Given the description of an element on the screen output the (x, y) to click on. 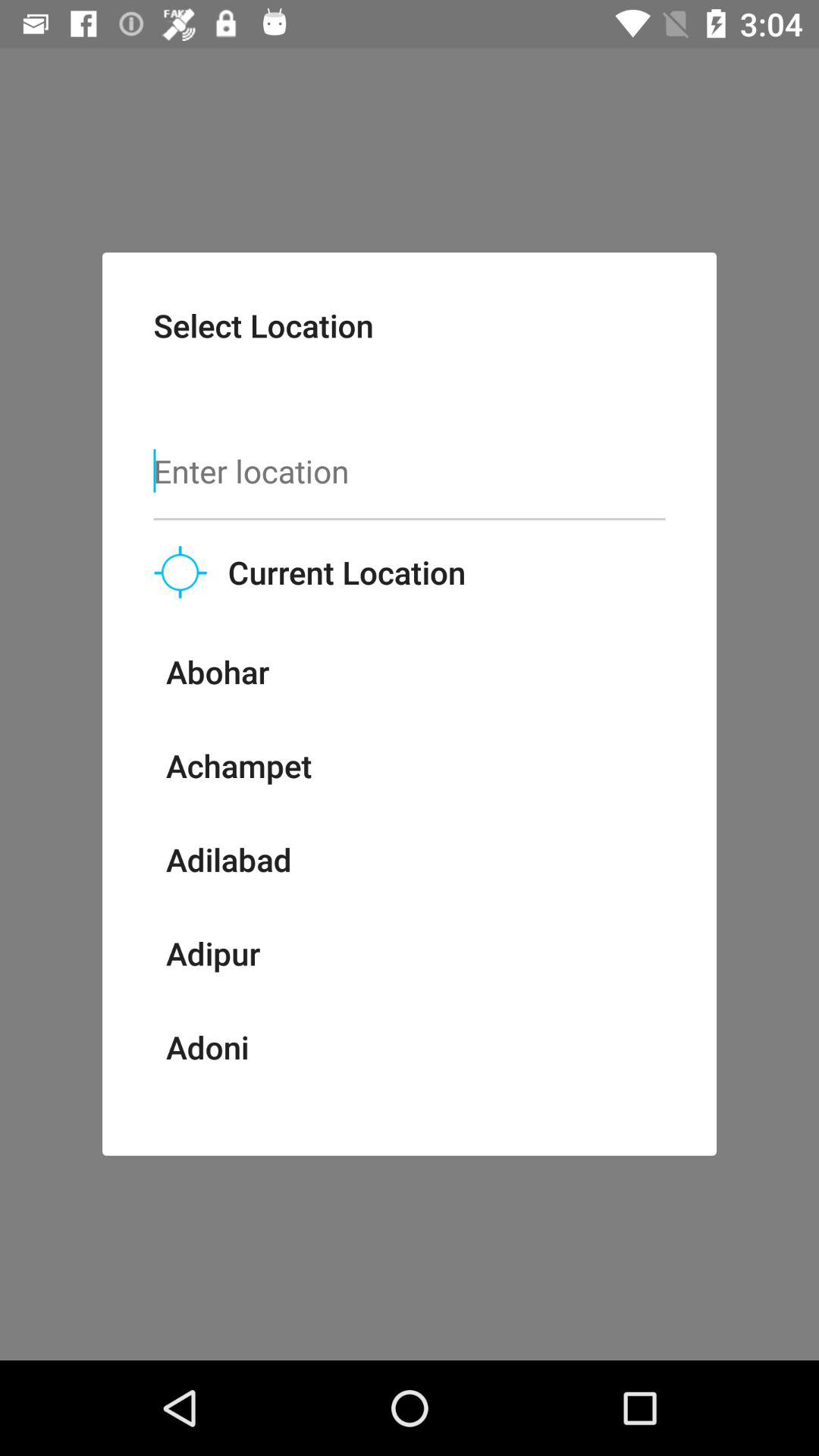
swipe to the achampet icon (239, 765)
